Given the description of an element on the screen output the (x, y) to click on. 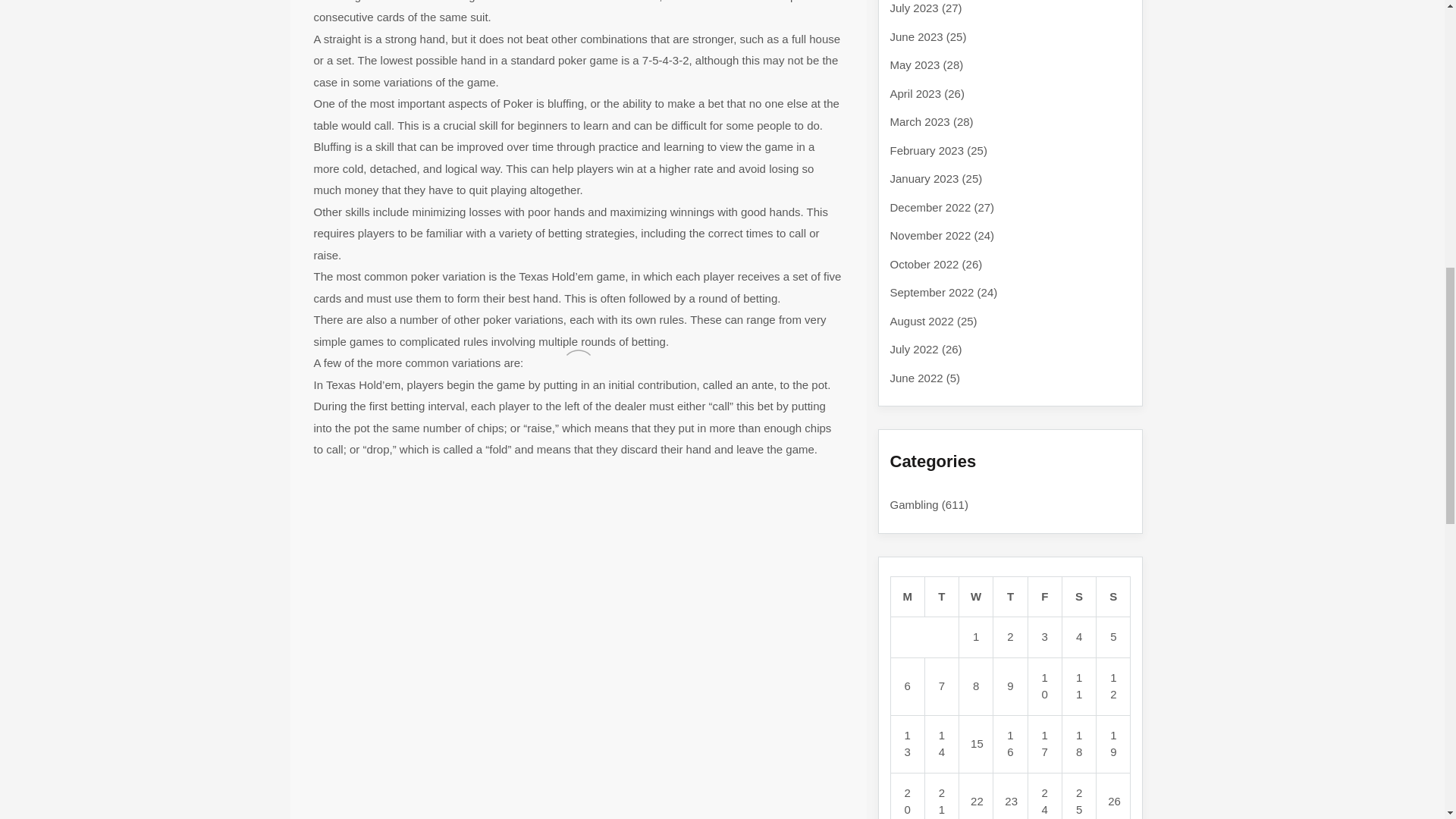
July 2023 (914, 7)
March 2023 (919, 121)
August 2022 (921, 319)
April 2023 (915, 92)
1 (975, 635)
December 2022 (930, 205)
3 (1045, 635)
September 2022 (931, 291)
Friday (1044, 596)
June 2023 (916, 36)
November 2022 (930, 235)
Tuesday (941, 596)
2 (1010, 635)
Sunday (1113, 596)
January 2023 (924, 178)
